Given the description of an element on the screen output the (x, y) to click on. 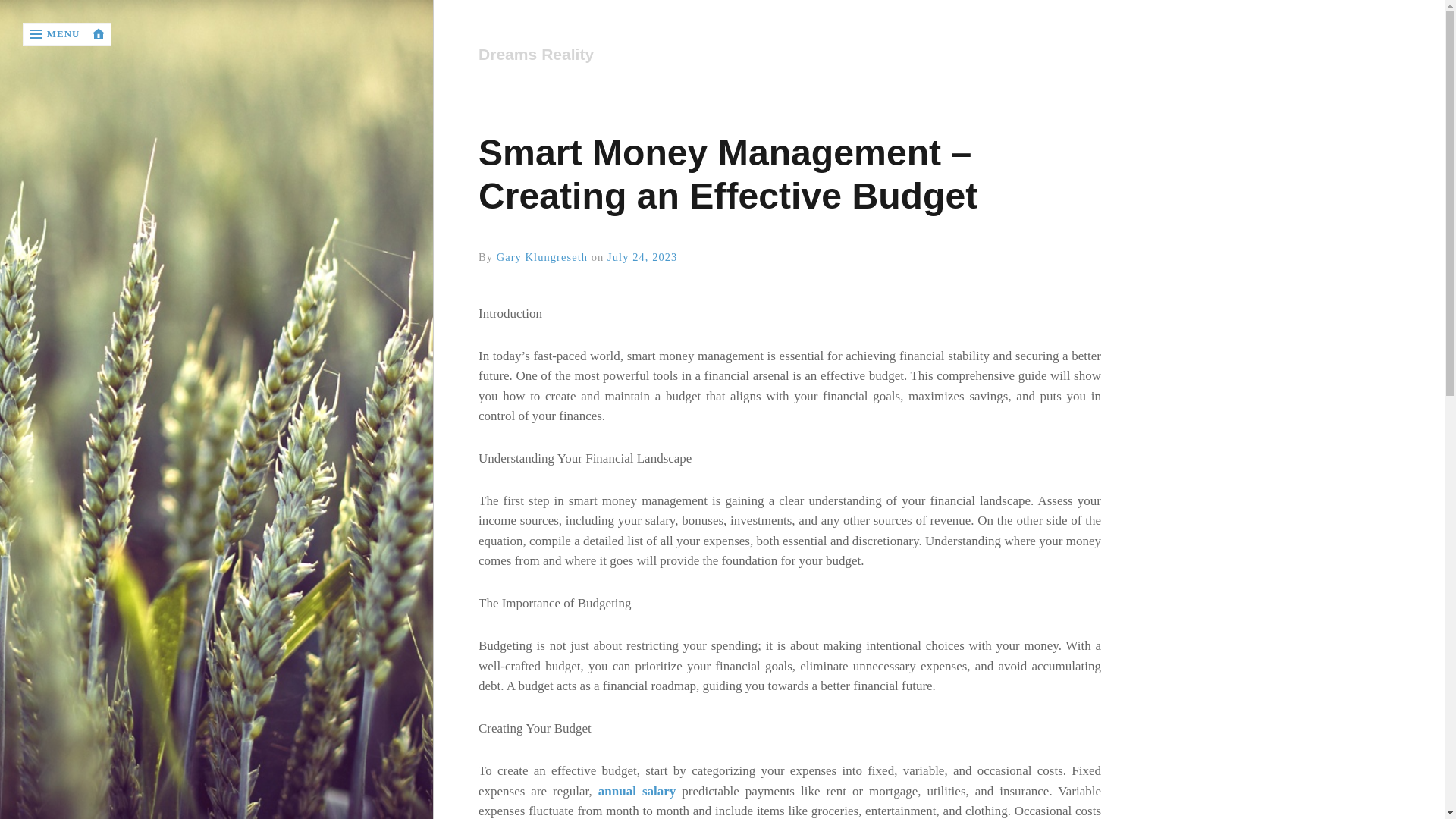
Home (789, 54)
MENU (55, 33)
View all posts by Gary Klungreseth (542, 256)
1:03 am (642, 256)
annual salary (636, 790)
Gary Klungreseth (542, 256)
July 24, 2023 (642, 256)
Dreams Reality (785, 54)
